Given the description of an element on the screen output the (x, y) to click on. 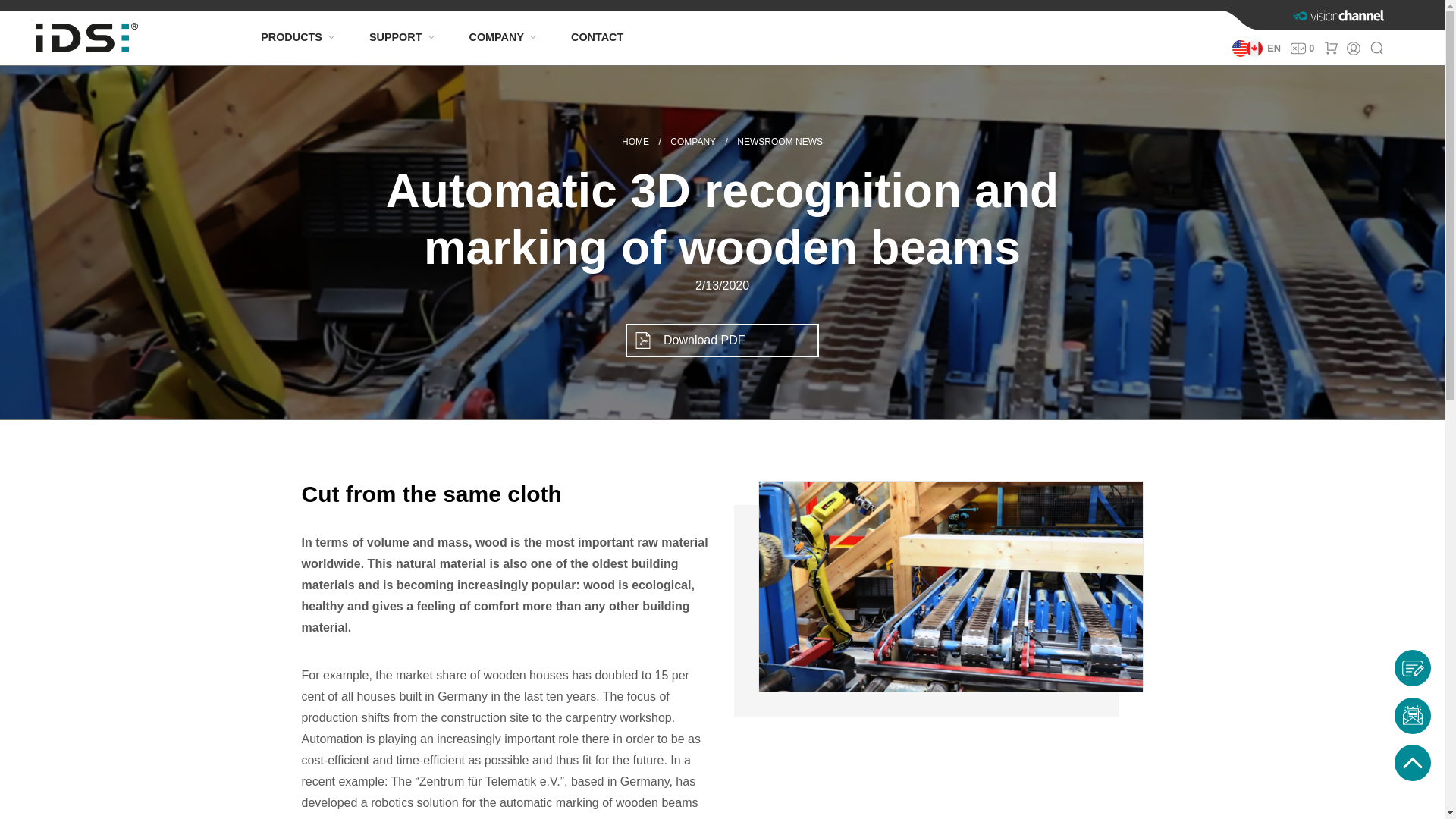
PRODUCTS (291, 37)
SUPPORT (394, 37)
Company (692, 141)
IDS Vision Channel (1339, 15)
IDS Imaging Development Systems Inc (635, 141)
News (779, 141)
Automatic 3D recognition and marking of wooden beams (950, 585)
EN (1256, 48)
CONTACT (593, 37)
COMPANY (496, 37)
0 (1303, 48)
